Given the description of an element on the screen output the (x, y) to click on. 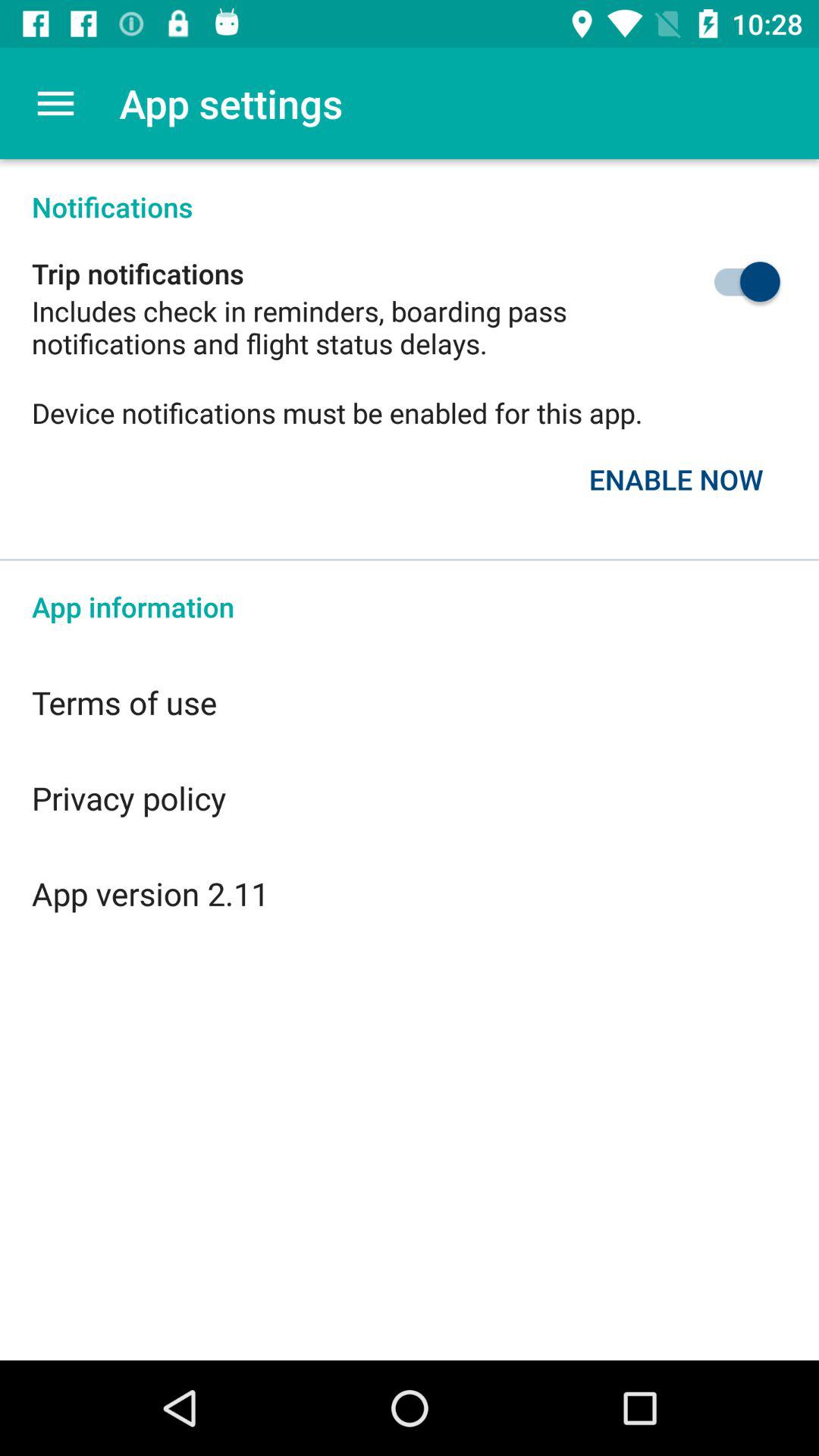
select item above the app information icon (676, 479)
